Given the description of an element on the screen output the (x, y) to click on. 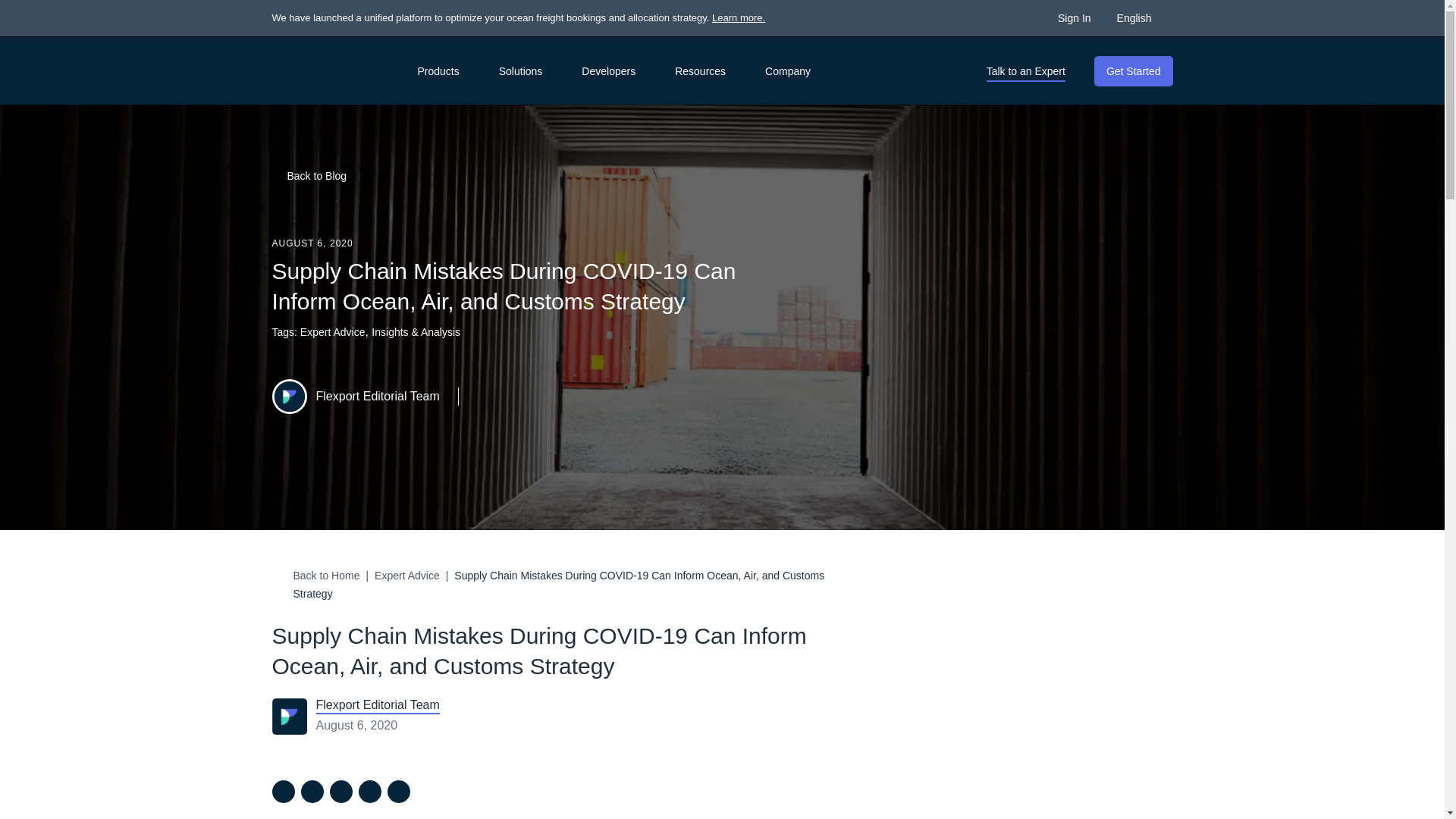
English (1142, 17)
Learn more. (738, 17)
Sign In (1075, 17)
